Given the description of an element on the screen output the (x, y) to click on. 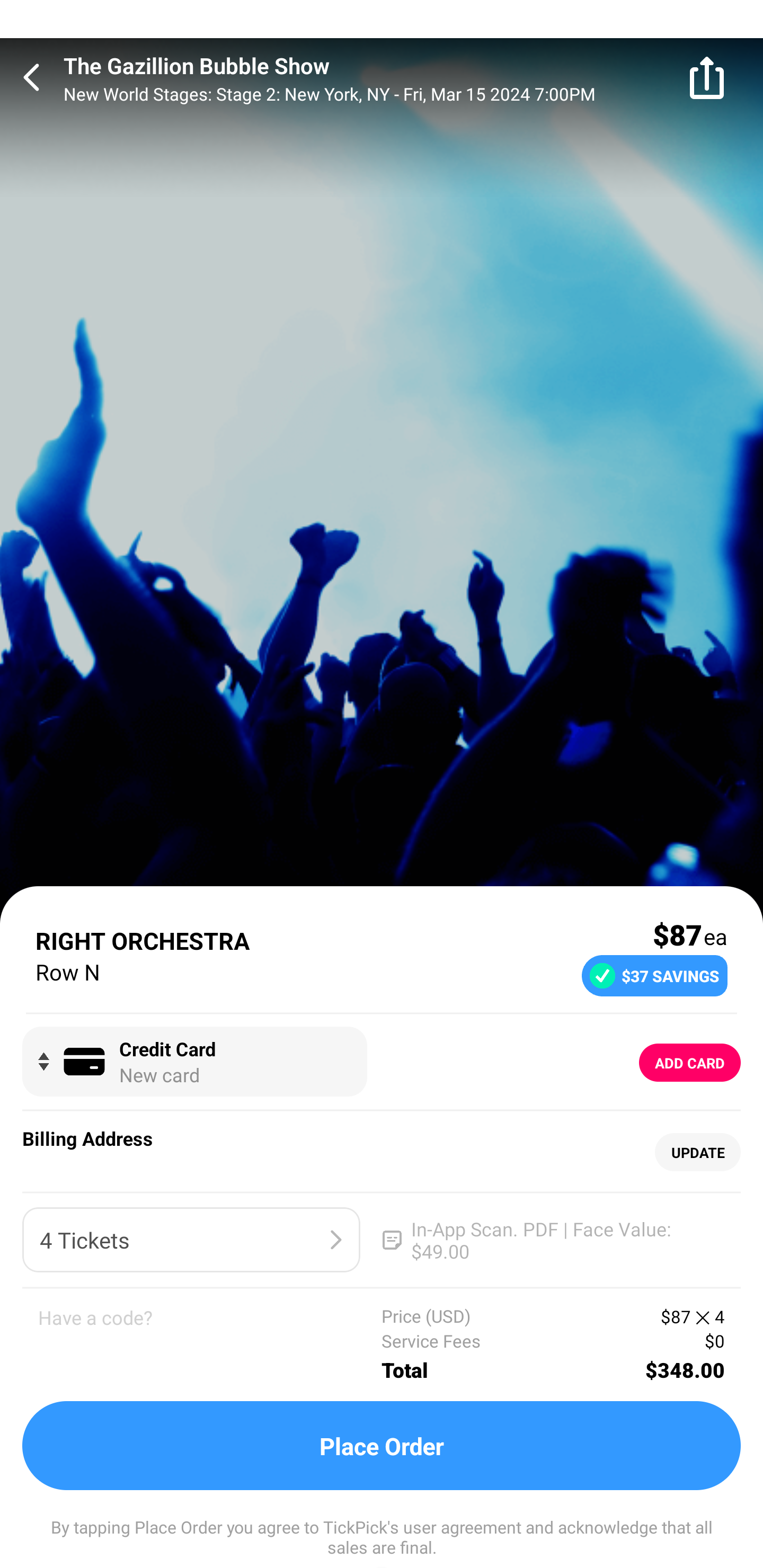
$37 SAVINGS (654, 974)
Credit Card, New card Credit Card New card (194, 1061)
ADD CARD (689, 1062)
UPDATE (697, 1152)
4 Tickets (191, 1239)
In-App Scan. PDF | Face Value: $49.00 (552, 1239)
Have a code? (209, 1344)
Place Order (381, 1445)
